Given the description of an element on the screen output the (x, y) to click on. 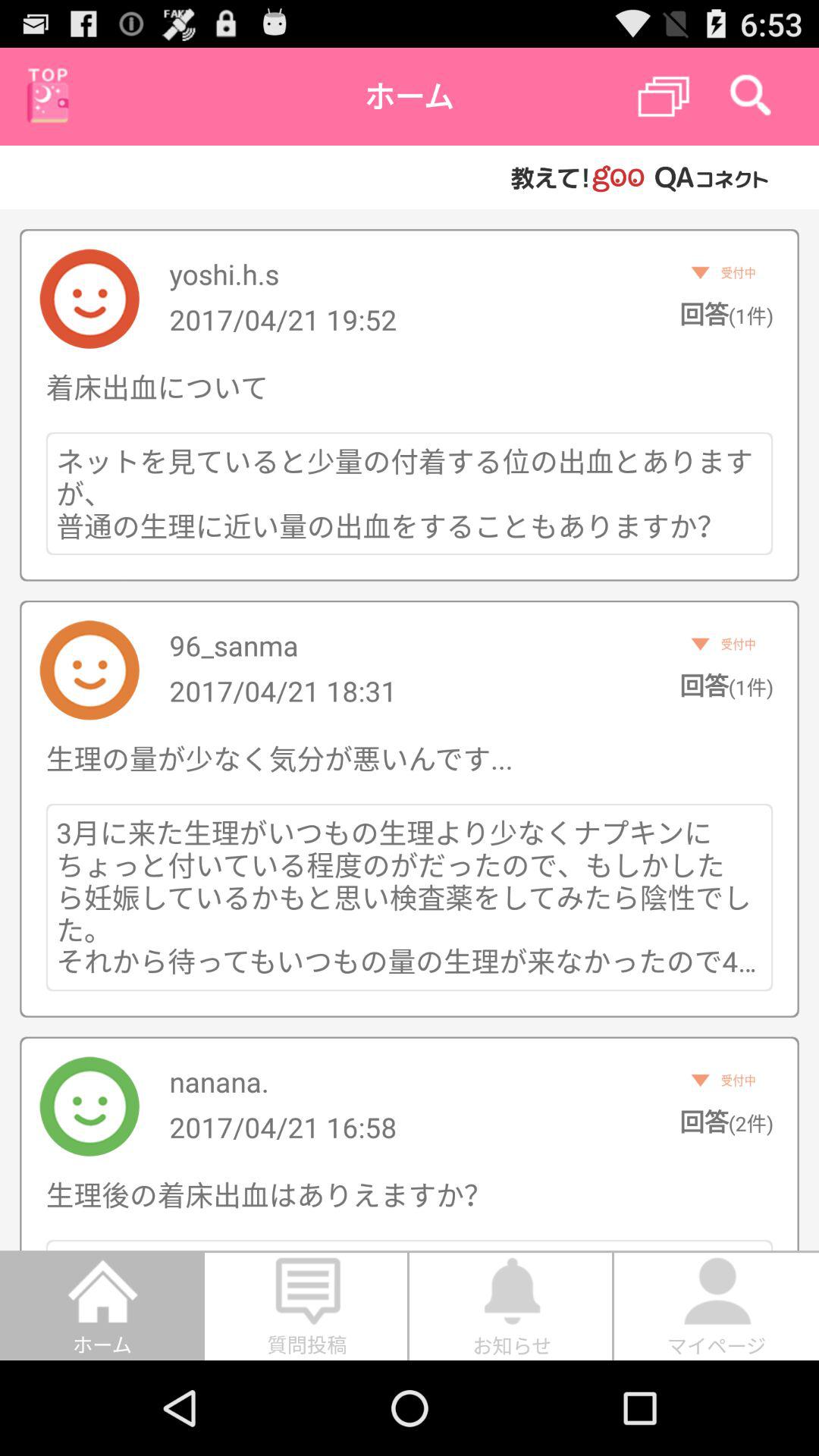
click on the first image from top (89, 298)
select the second text from bottom on the right (729, 1081)
click on search icon (751, 96)
click on the last image (89, 1106)
